Given the description of an element on the screen output the (x, y) to click on. 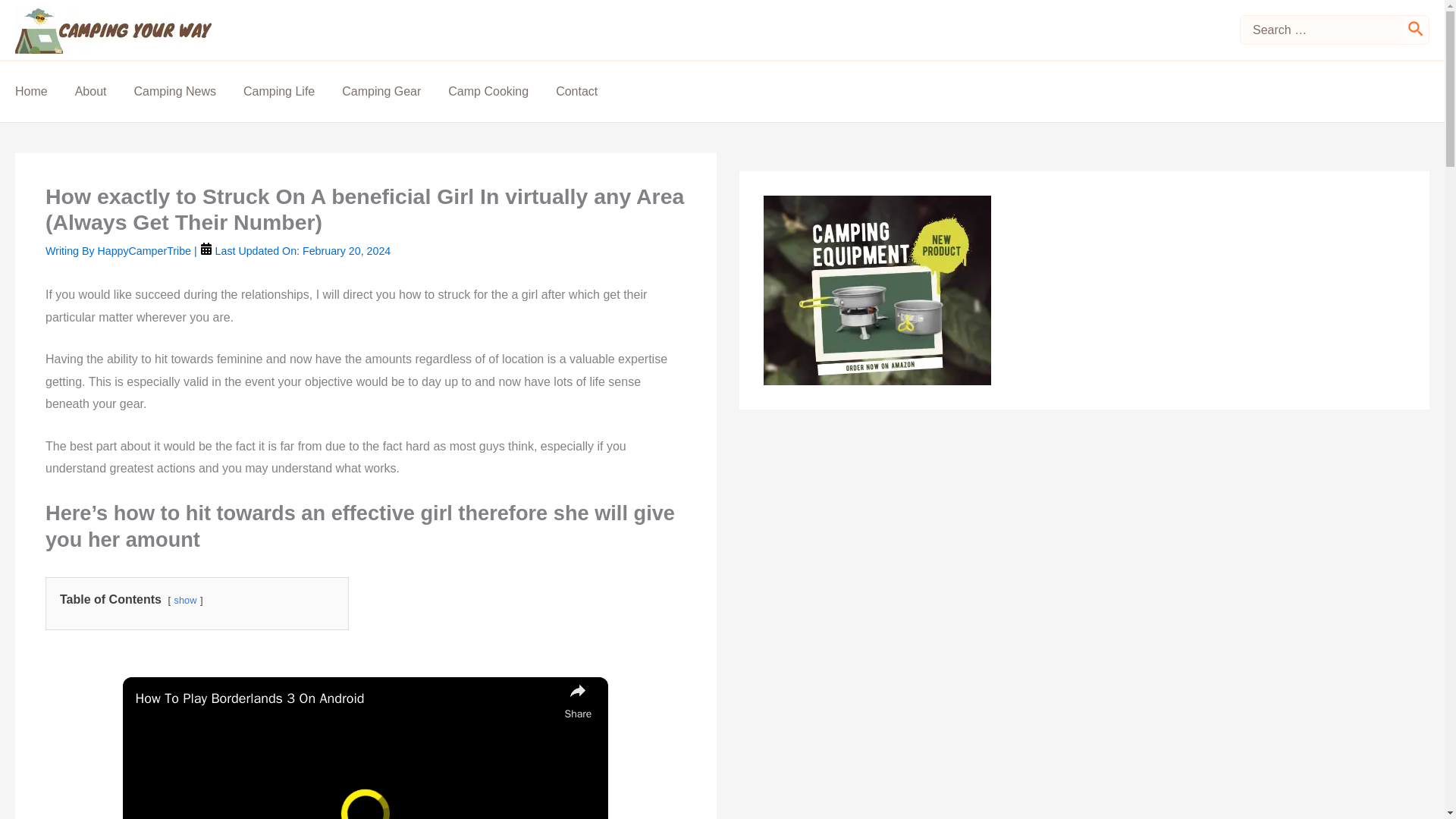
How To Play Borderlands 3 On Android (345, 698)
Camping News (188, 91)
Contact (590, 91)
show (185, 600)
Camp Cooking (502, 91)
Home (44, 91)
HappyCamperTribe (145, 250)
View all posts by HappyCamperTribe (145, 250)
Camping Gear (395, 91)
Camping Life (292, 91)
About (104, 91)
